Given the description of an element on the screen output the (x, y) to click on. 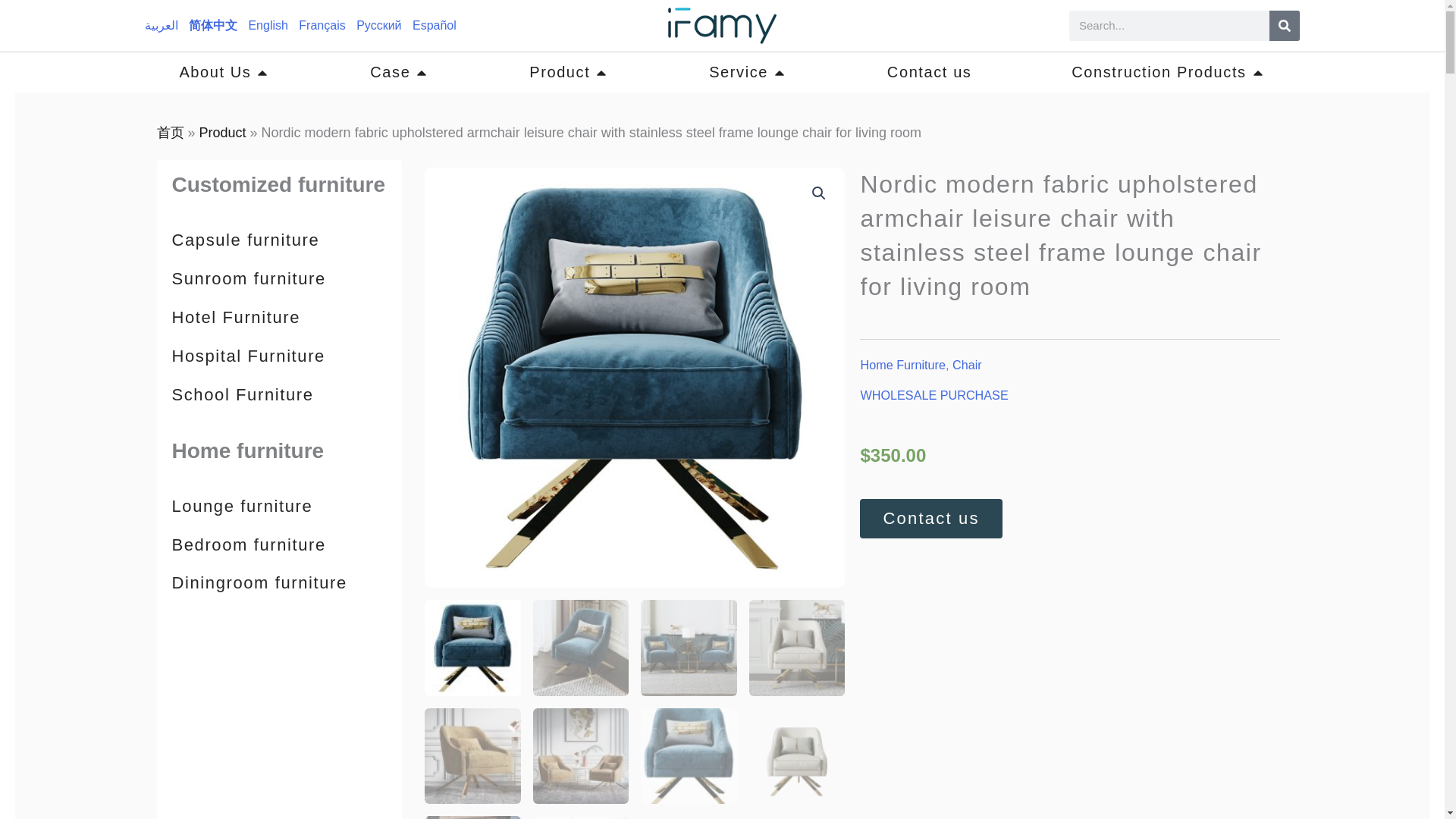
Construction Products (1168, 72)
About Us (224, 72)
English (266, 24)
Search (1284, 25)
Contact us (929, 72)
Case (399, 72)
Service (748, 72)
